Given the description of an element on the screen output the (x, y) to click on. 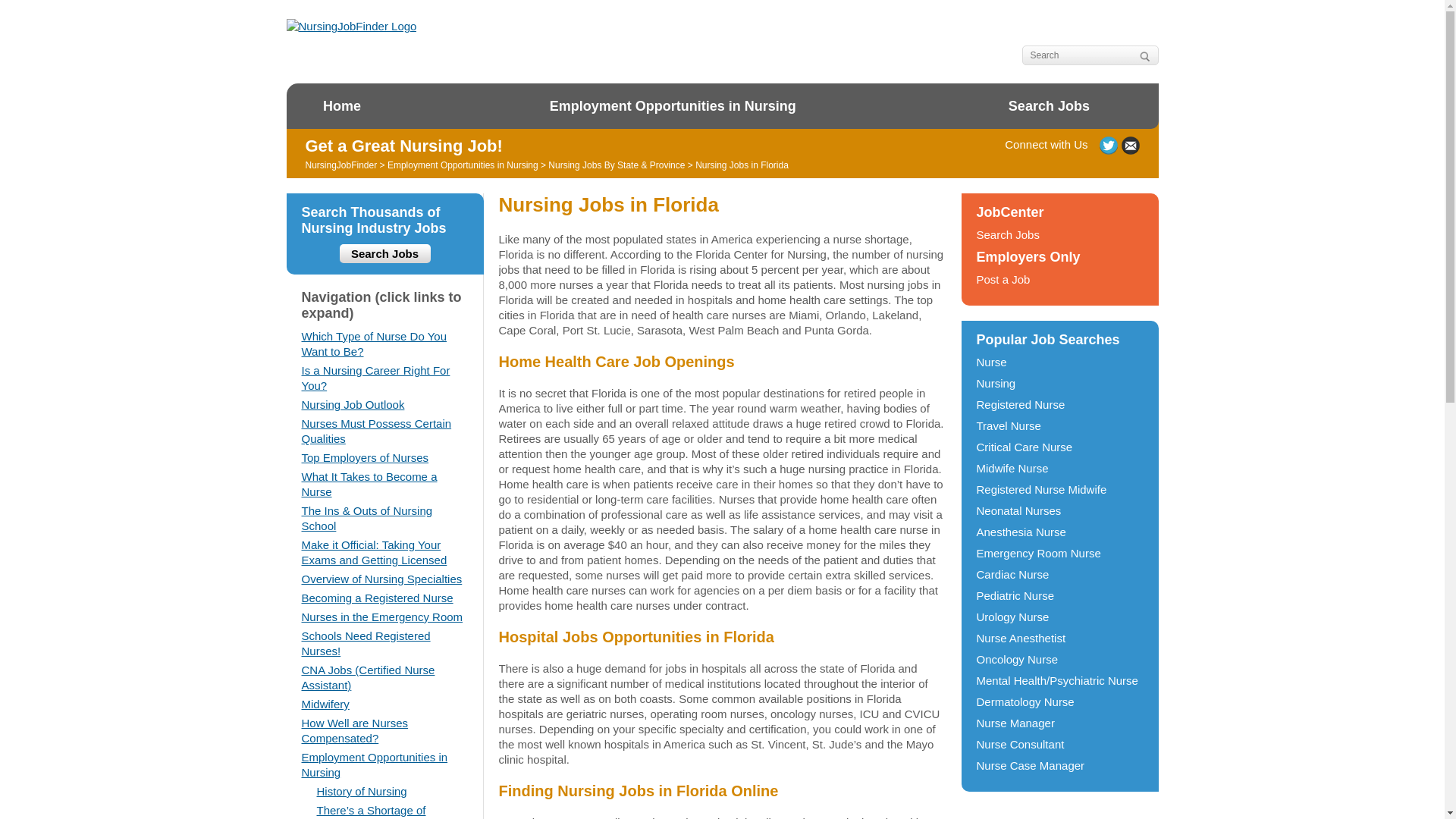
Midwifery (325, 703)
Employment Opportunities in Nursing (462, 164)
Top Employers of Nurses (365, 457)
Home (342, 105)
Which Type of Nurse Do You Want to Be? (373, 343)
Schools Need Registered Nurses! (365, 643)
Employment Opportunities in Nursing (374, 764)
Is a Nursing Career Right For You? (375, 377)
Nurses Must Possess Certain Qualities (376, 430)
Becoming a Registered Nurse (376, 597)
Midwifery (325, 703)
Which Type of Nurse Do You Want to Be? (373, 343)
How Well are Nurses Compensated? (355, 730)
Becoming a Registered Nurse (376, 597)
Search Jobs (384, 253)
